Given the description of an element on the screen output the (x, y) to click on. 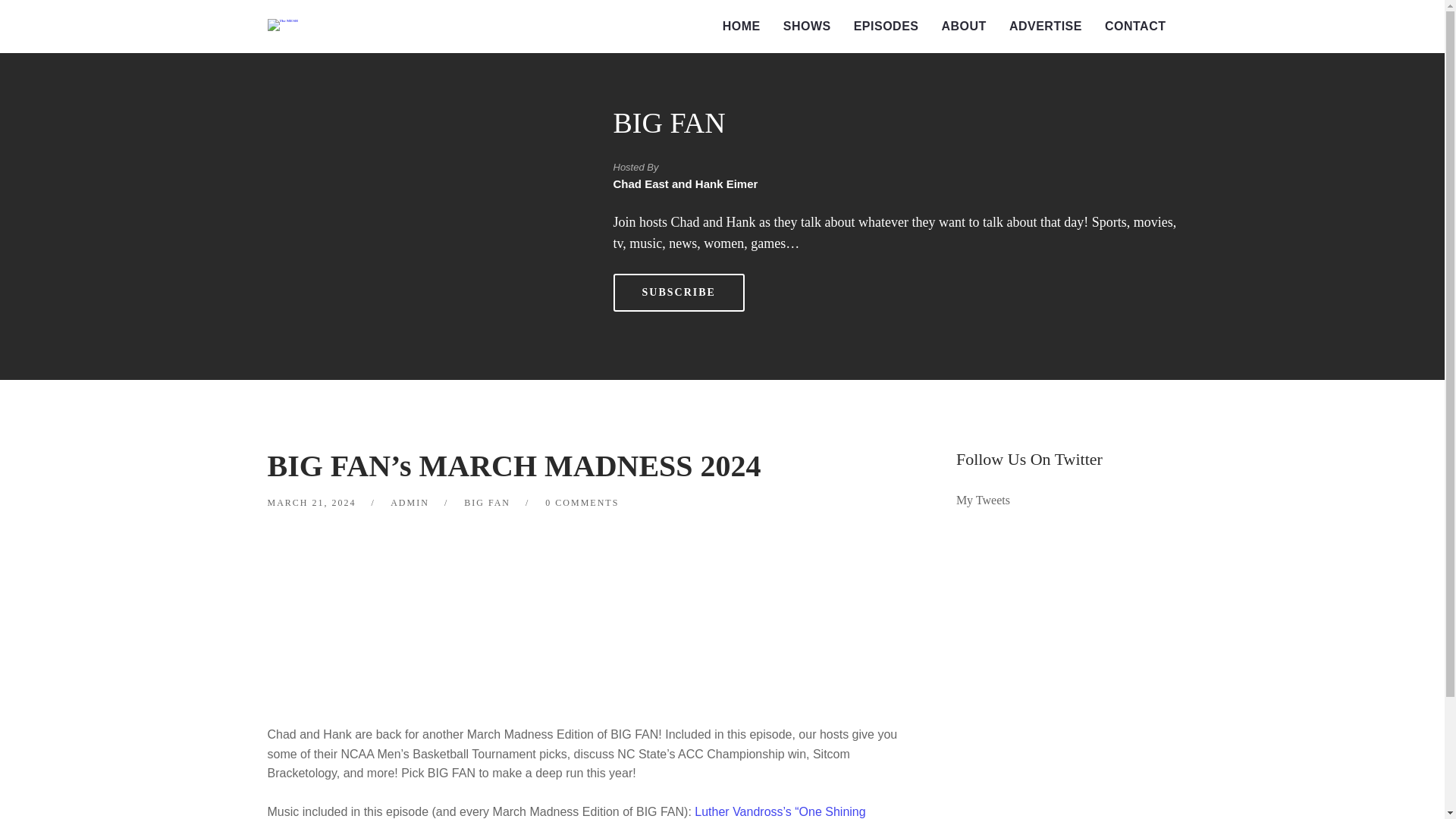
SUBSCRIBE (678, 292)
CONTACT (1135, 26)
0 COMMENTS (581, 502)
ADVERTISE (1045, 26)
BIG FAN (487, 502)
SHOWS (807, 26)
BIG FAN (668, 122)
HOME (741, 26)
My Tweets (983, 499)
ADMIN (409, 502)
The MESH (281, 24)
ABOUT (963, 26)
EPISODES (886, 26)
